Given the description of an element on the screen output the (x, y) to click on. 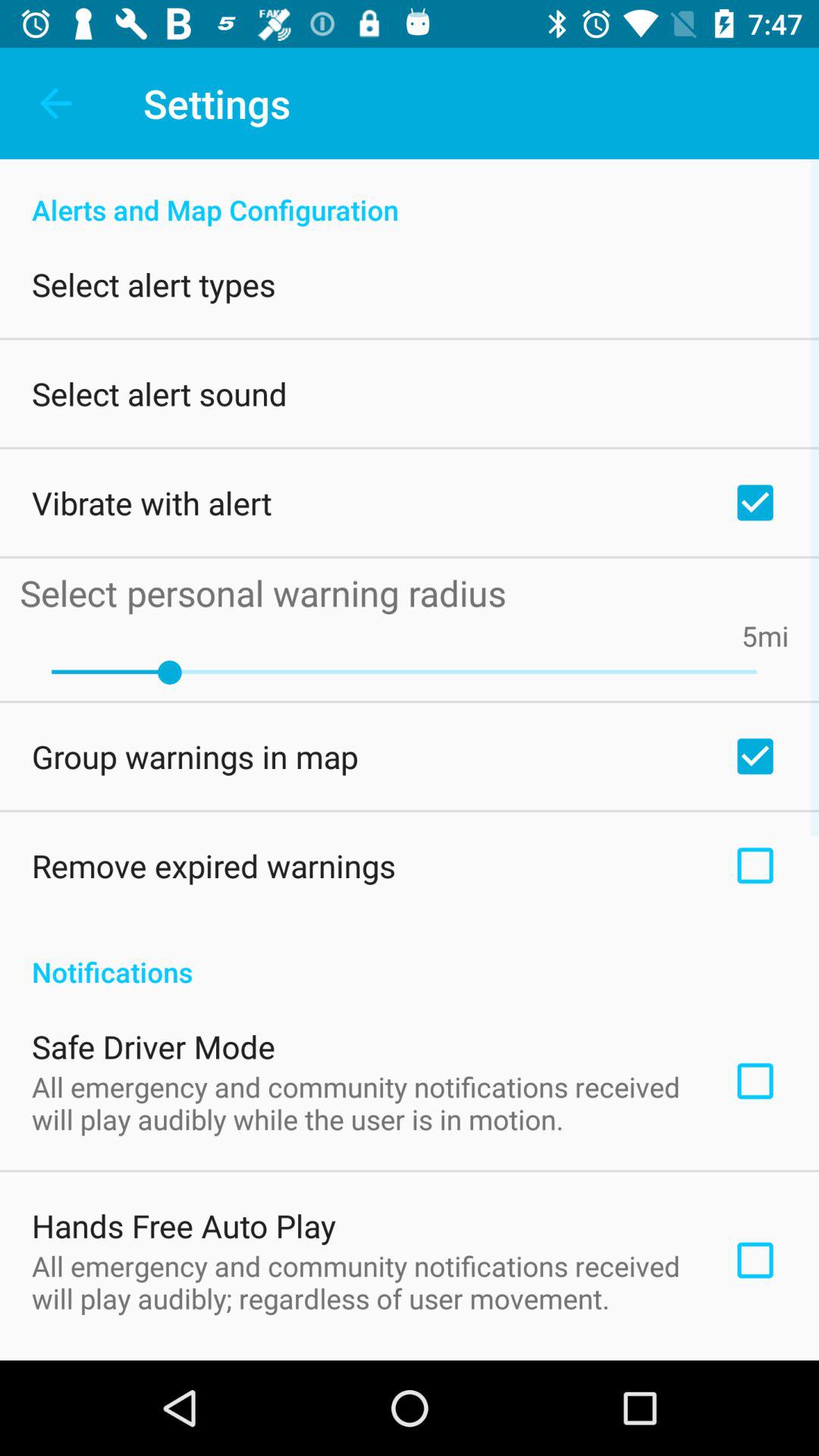
press item below the group warnings in app (213, 865)
